Given the description of an element on the screen output the (x, y) to click on. 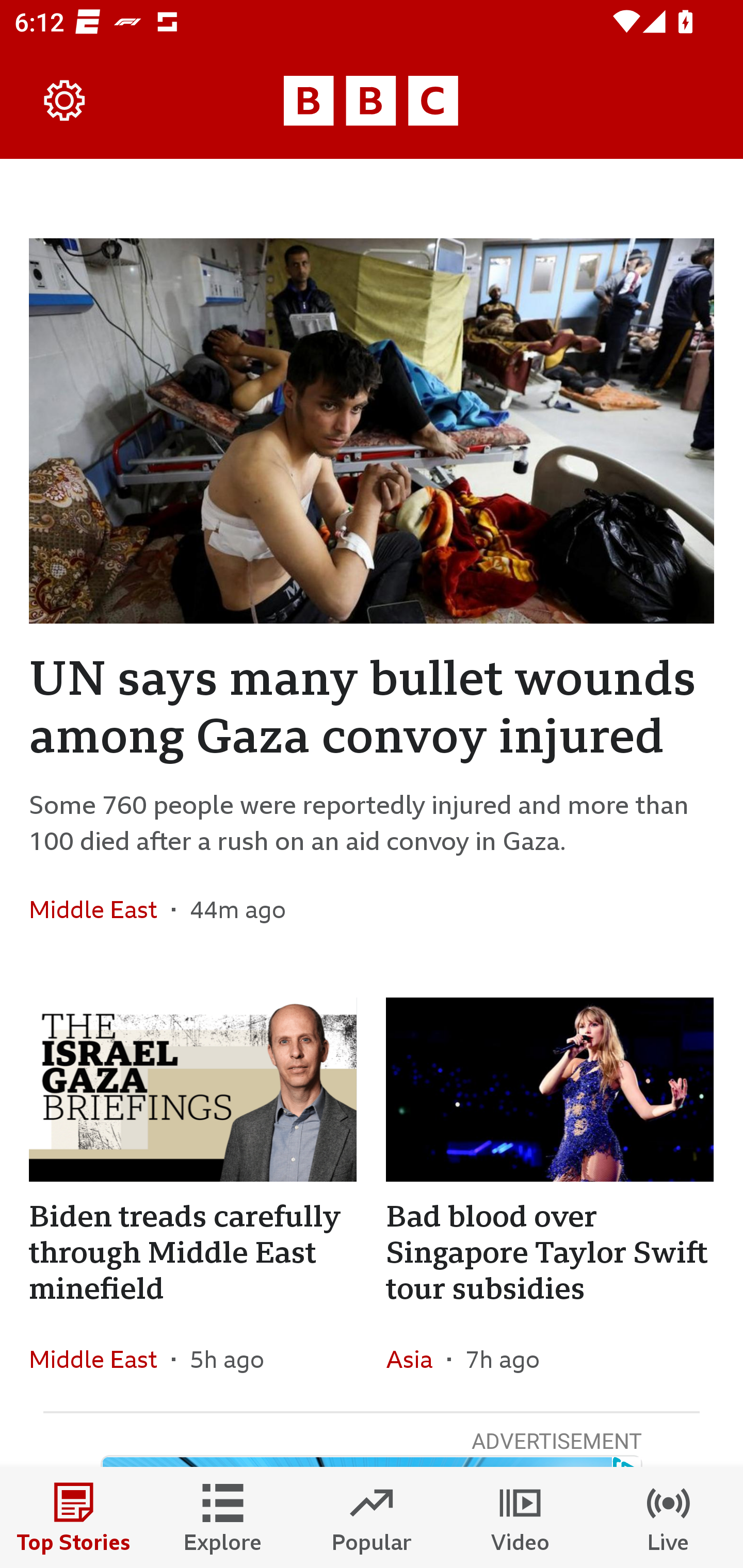
Settings (64, 100)
Middle East In the section Middle East (99, 909)
Middle East In the section Middle East (99, 1359)
Asia In the section Asia (416, 1359)
Explore (222, 1517)
Popular (371, 1517)
Video (519, 1517)
Live (668, 1517)
